Given the description of an element on the screen output the (x, y) to click on. 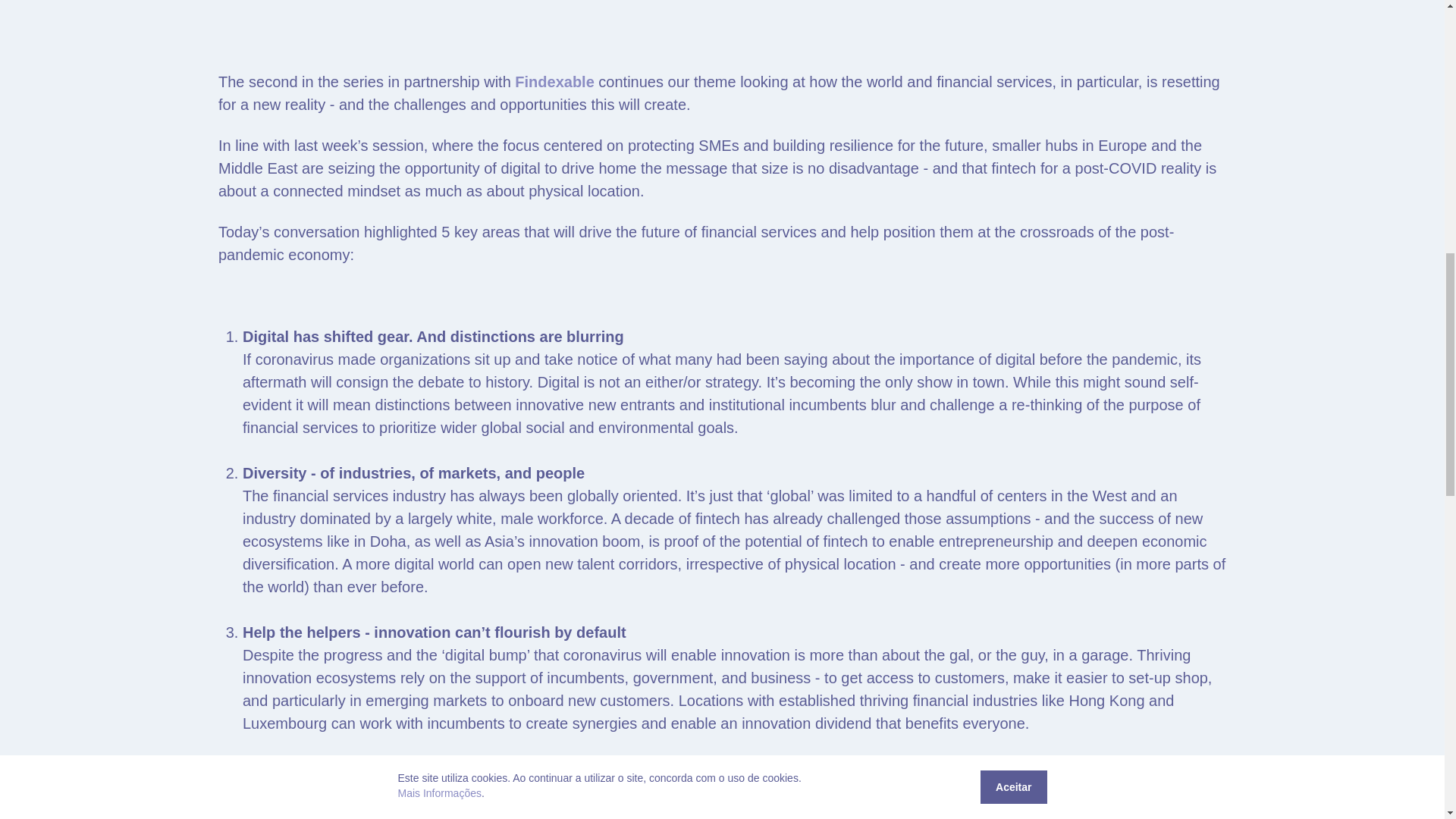
Findexable (554, 81)
